Given the description of an element on the screen output the (x, y) to click on. 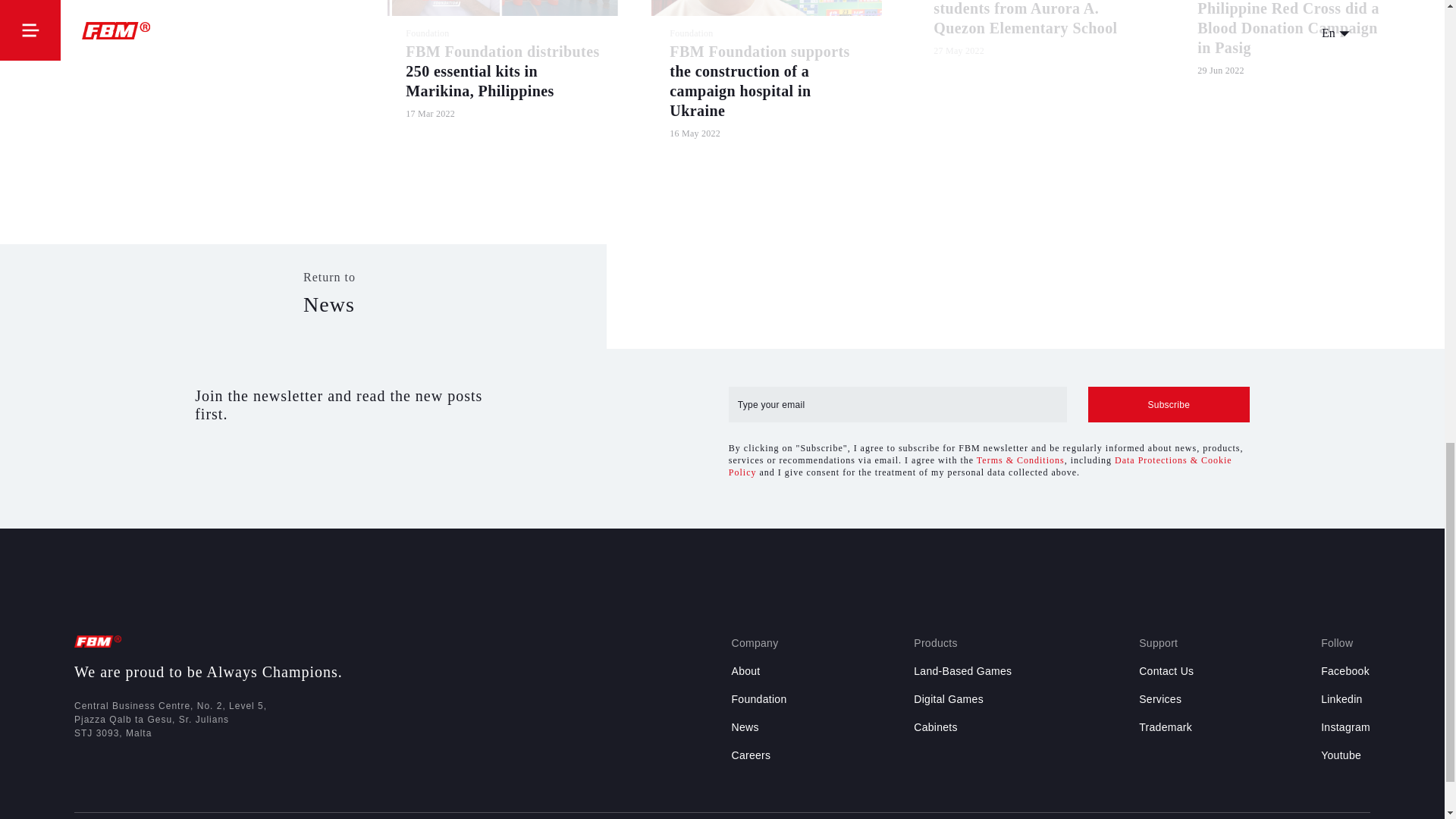
Digital Games (949, 698)
Instagram (1345, 727)
Land-Based Games (962, 671)
About (745, 671)
Youtube (1340, 755)
Facebook (1345, 671)
Foundation (758, 698)
Linkedin (1340, 698)
